Given the description of an element on the screen output the (x, y) to click on. 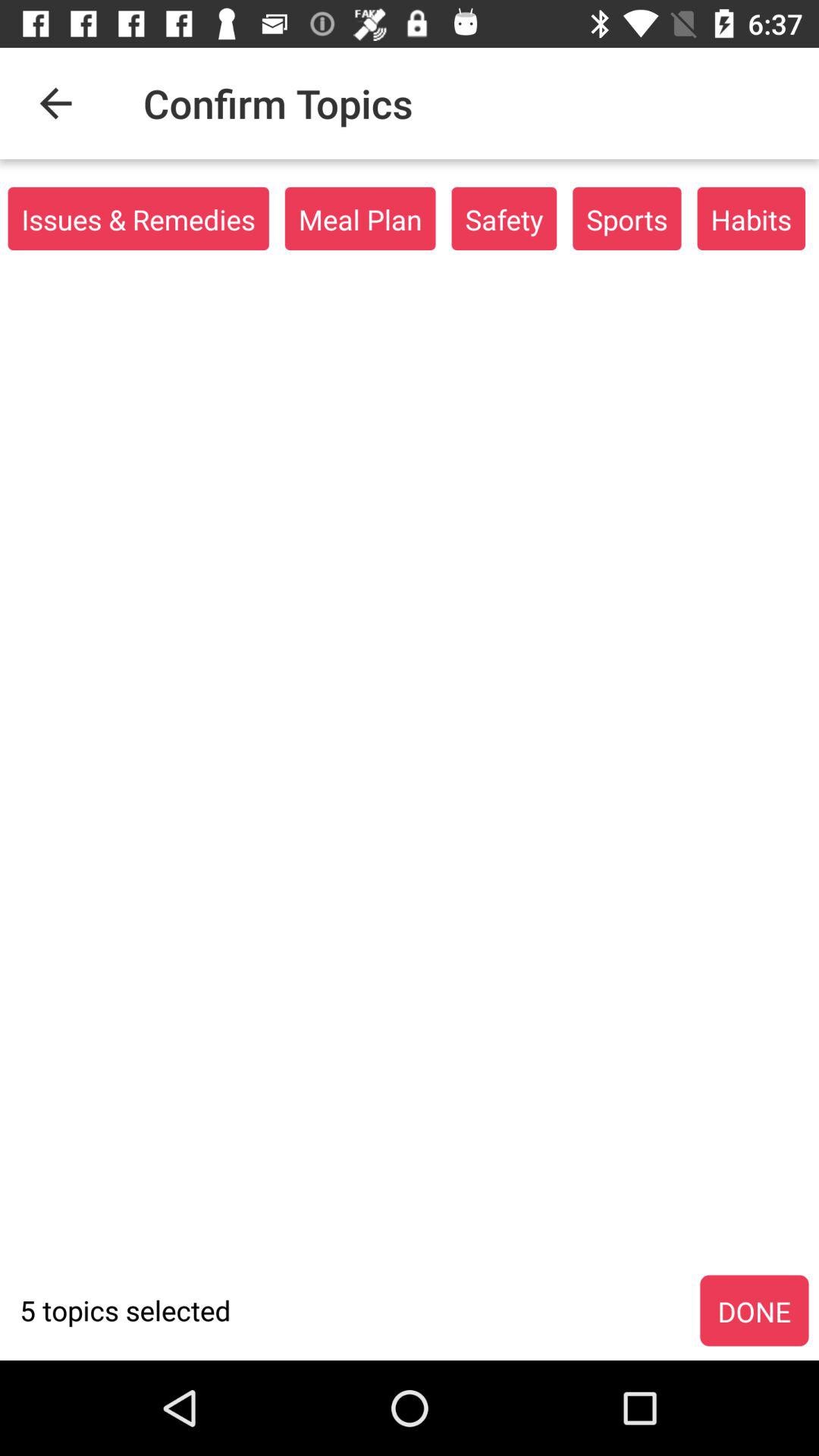
open the icon to the right of 5 topics selected (754, 1311)
